Given the description of an element on the screen output the (x, y) to click on. 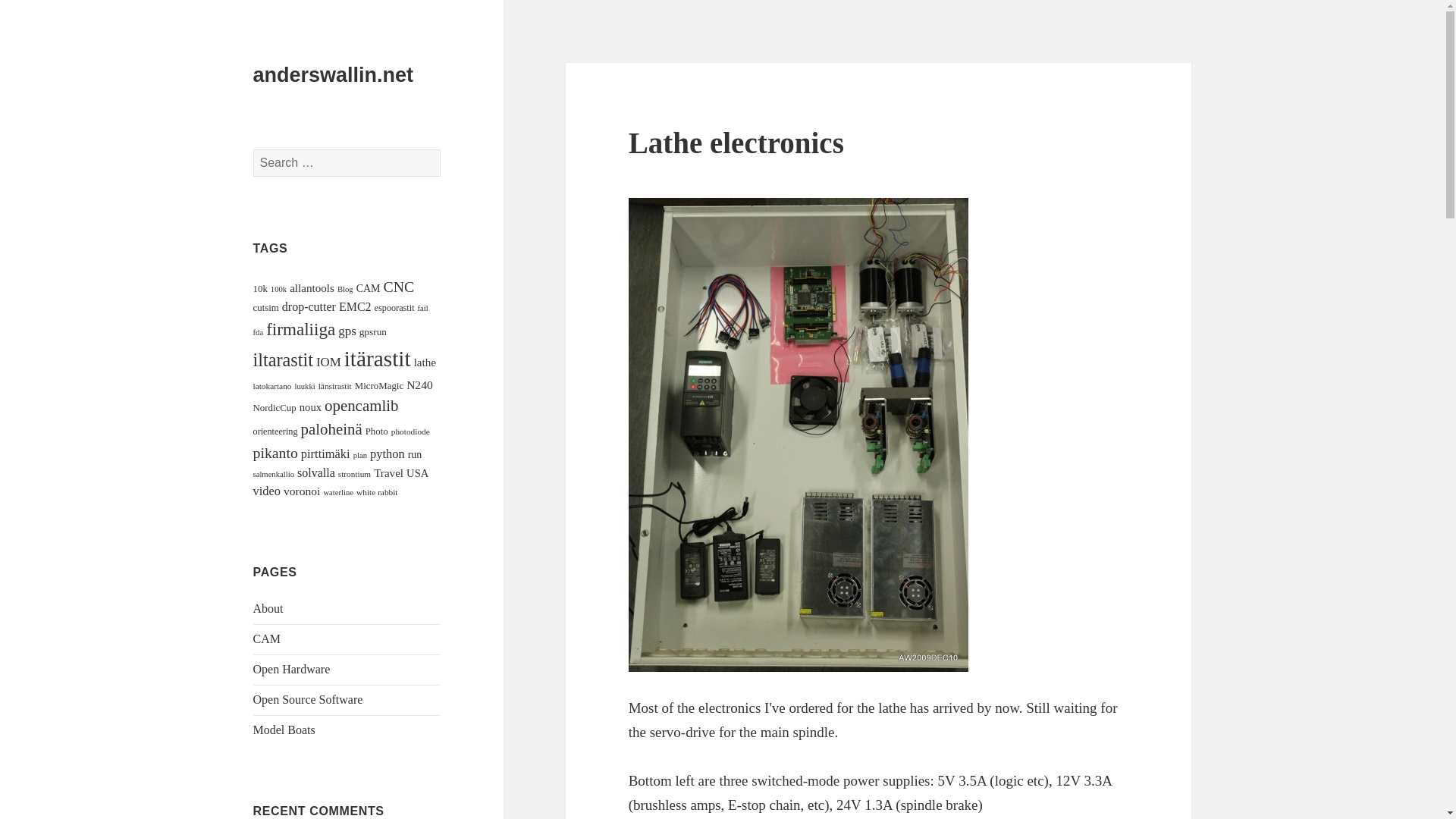
opencamlib (360, 405)
fail (422, 307)
Blog (345, 289)
gps (346, 330)
luukki (304, 386)
plan (359, 455)
noux (310, 407)
N240 (419, 384)
MicroMagic (379, 385)
gpsrun (373, 331)
